Given the description of an element on the screen output the (x, y) to click on. 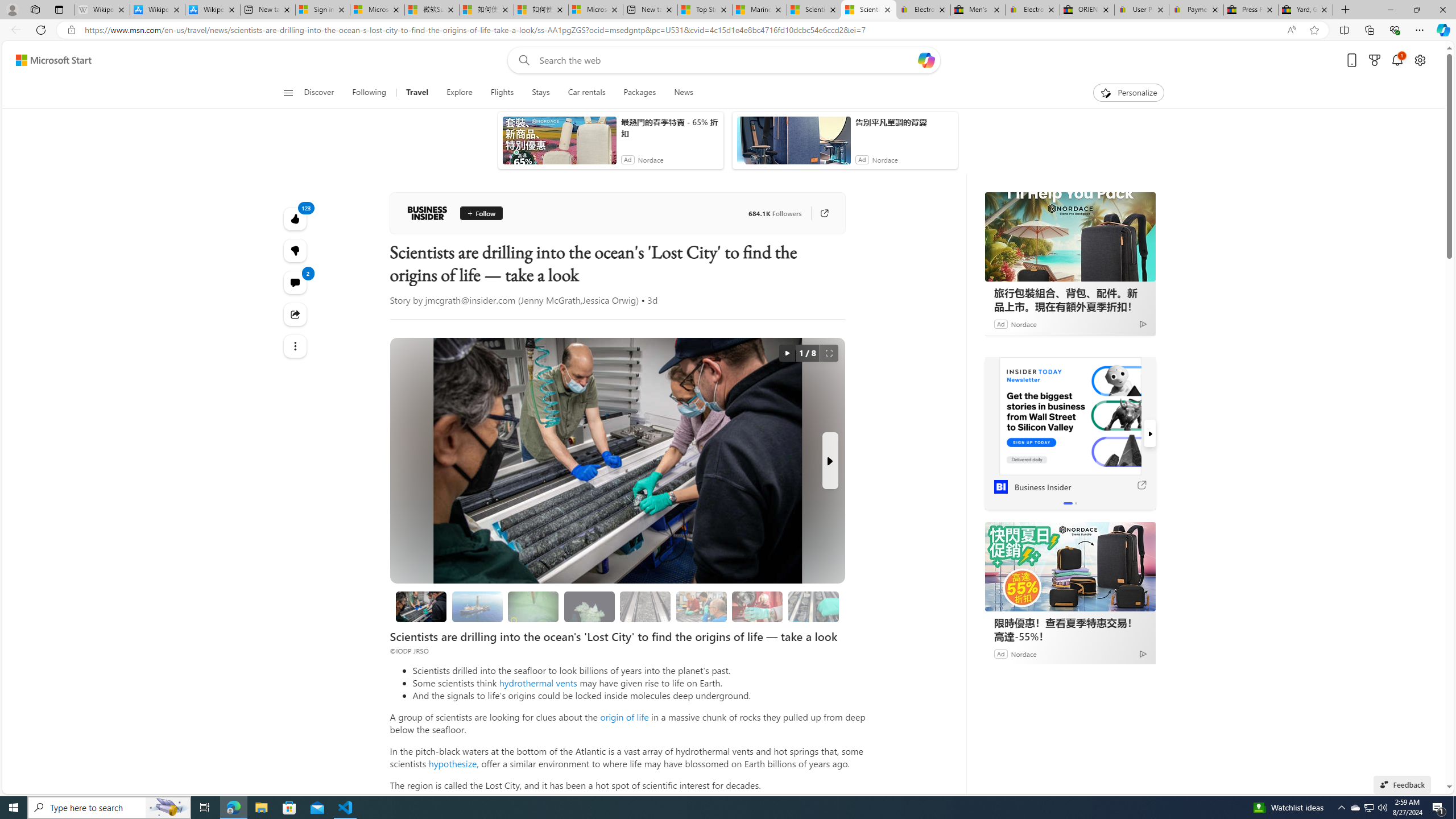
Car rentals (586, 92)
Researchers are still studying the samples (812, 606)
Go to publisher's site (823, 213)
Packages (639, 92)
